Given the description of an element on the screen output the (x, y) to click on. 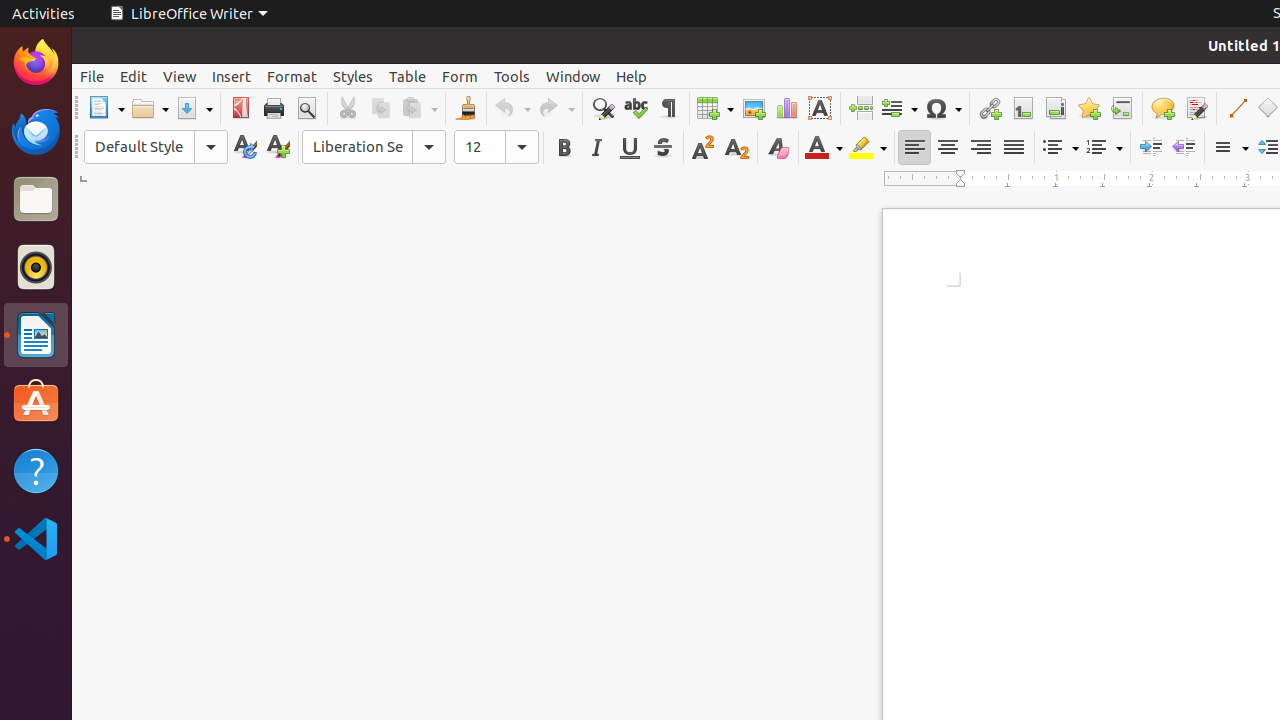
Center Element type: toggle-button (947, 147)
Image Element type: push-button (753, 108)
LibreOffice Writer Element type: push-button (36, 334)
View Element type: menu (179, 76)
Cut Element type: push-button (347, 108)
